Given the description of an element on the screen output the (x, y) to click on. 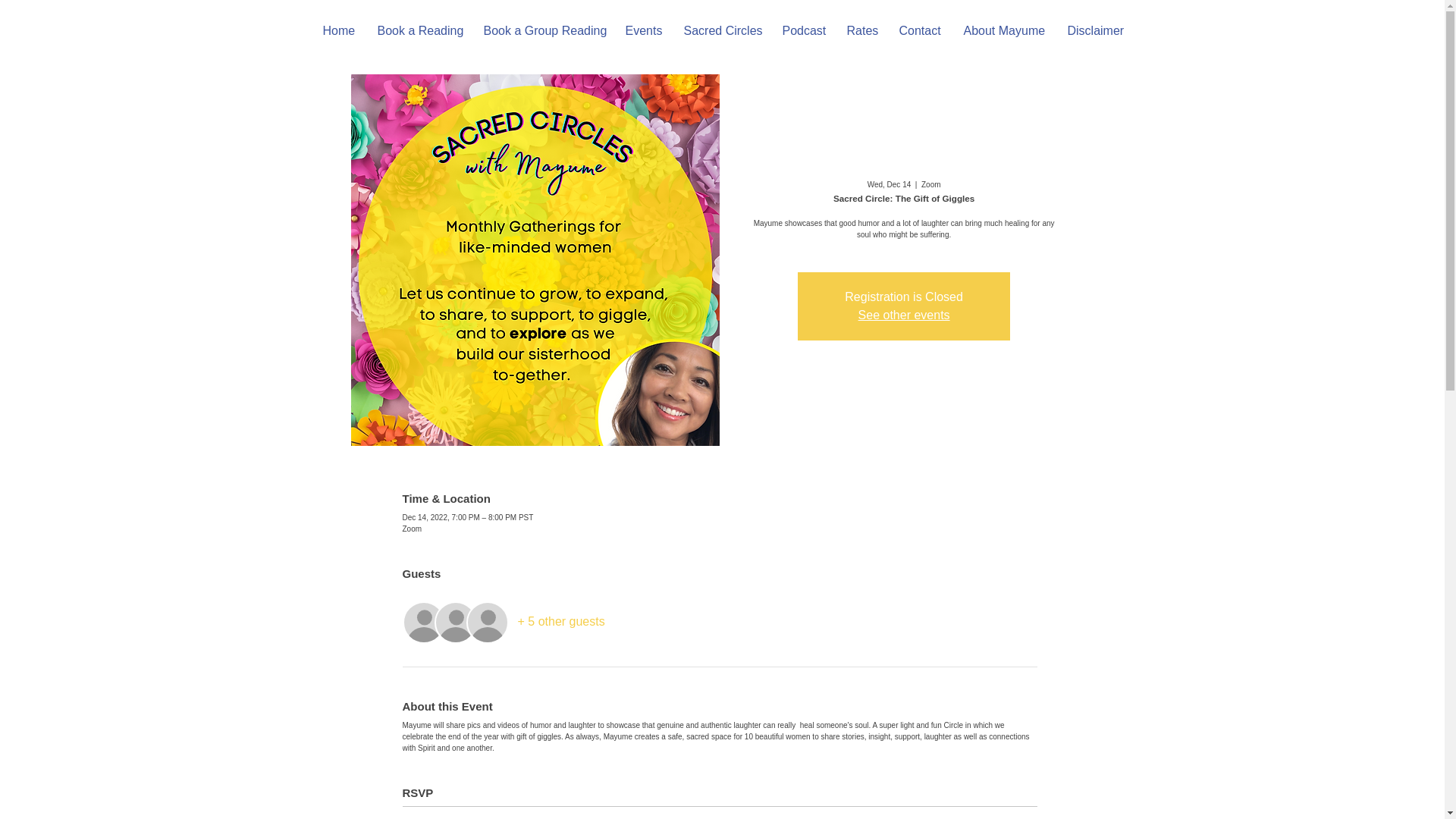
See other events (904, 314)
Podcast (802, 30)
Contact (919, 30)
Home (338, 30)
Sacred Circles (720, 30)
Book a Reading (418, 30)
Book a Group Reading (541, 30)
Disclaimer (1094, 30)
Rates (861, 30)
Events (643, 30)
About Mayume (1004, 30)
